Given the description of an element on the screen output the (x, y) to click on. 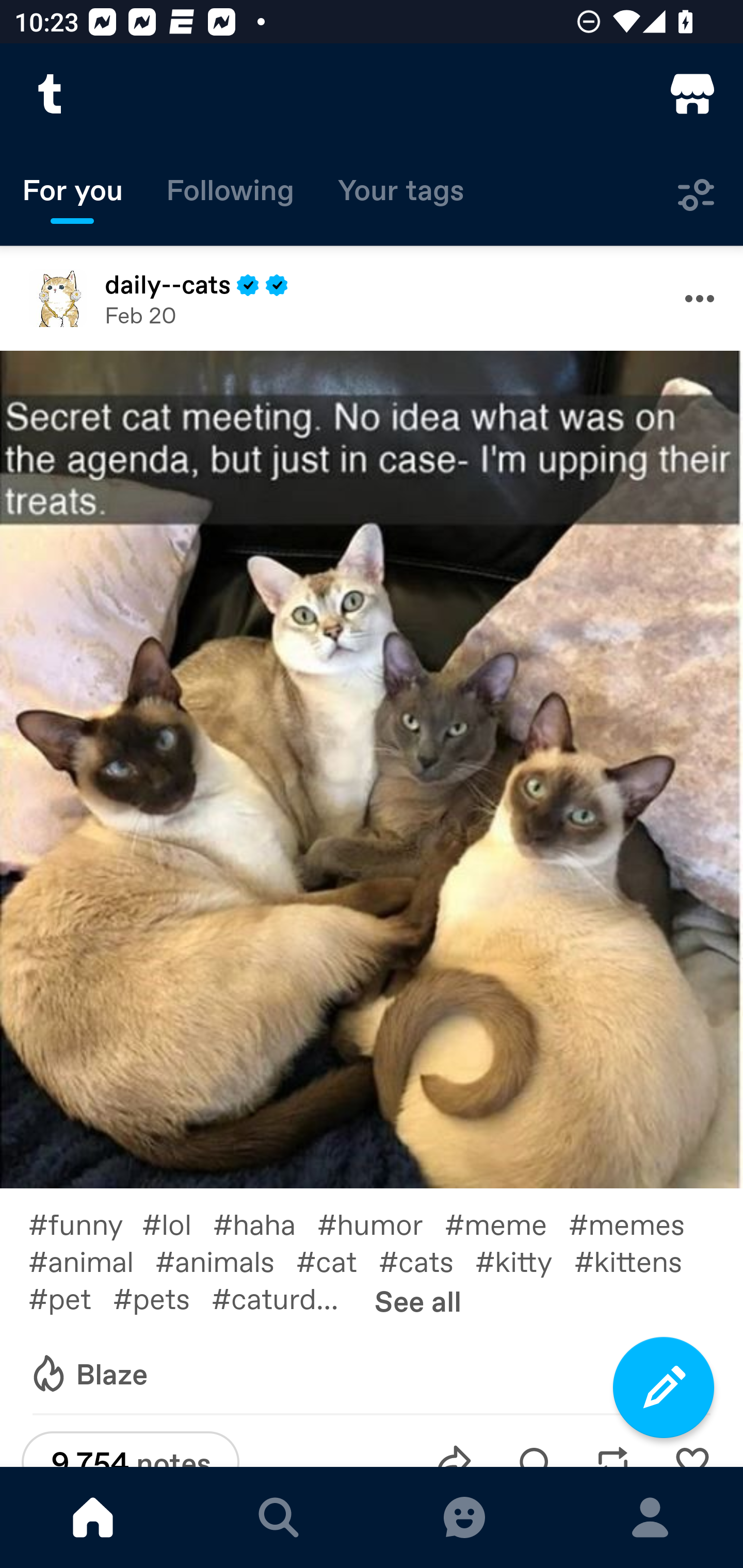
Tumblr (50, 93)
TumblrMart (692, 94)
Following (230, 195)
Your tags (400, 195)
#funny (84, 1222)
#lol (177, 1222)
#haha (265, 1222)
#humor (381, 1222)
#meme (506, 1222)
#memes (637, 1222)
#animal (91, 1260)
#animals (225, 1260)
#cat (337, 1260)
#cats (426, 1260)
#kitty (524, 1260)
#kittens (638, 1260)
#pet (70, 1297)
#pets (161, 1297)
#caturd… (285, 1297)
See all (417, 1300)
Blaze Blaze Blaze (88, 1373)
Compose a new post (663, 1387)
DASHBOARD (92, 1517)
EXPLORE (278, 1517)
MESSAGES (464, 1517)
ACCOUNT (650, 1517)
